Given the description of an element on the screen output the (x, y) to click on. 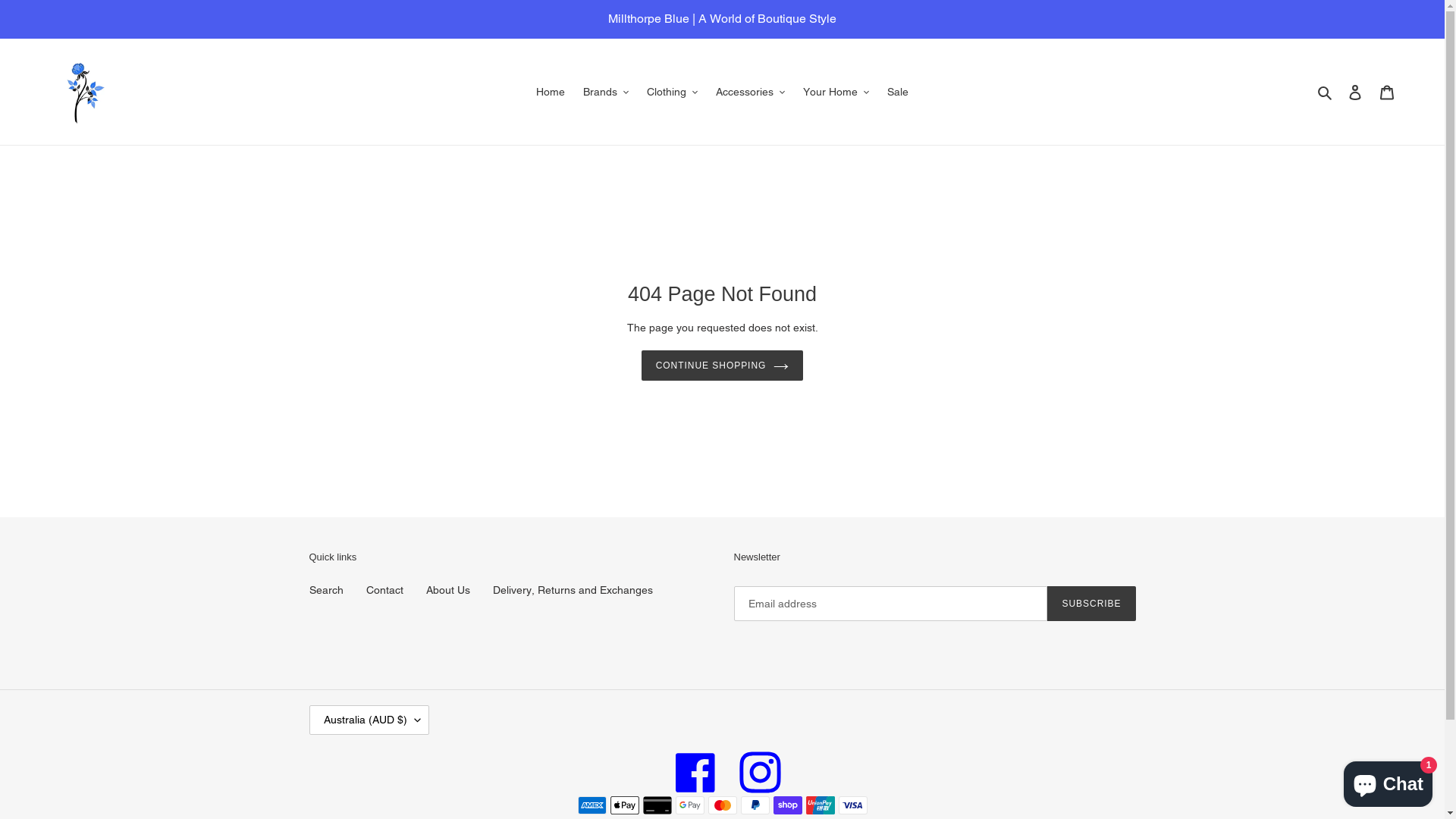
Cart Element type: text (1386, 90)
Log in Element type: text (1355, 90)
Search Element type: text (326, 589)
Instagram Element type: text (760, 772)
About Us Element type: text (448, 589)
Australia (AUD $) Element type: text (369, 719)
Search Element type: text (1325, 91)
Brands Element type: text (605, 91)
Delivery, Returns and Exchanges Element type: text (572, 589)
SUBSCRIBE Element type: text (1091, 603)
Accessories Element type: text (750, 91)
Shopify online store chat Element type: hover (1388, 780)
Facebook Element type: text (695, 772)
Contact Element type: text (383, 589)
Sale Element type: text (897, 91)
Clothing Element type: text (672, 91)
Your Home Element type: text (835, 91)
Home Element type: text (550, 91)
CONTINUE SHOPPING Element type: text (722, 365)
